Given the description of an element on the screen output the (x, y) to click on. 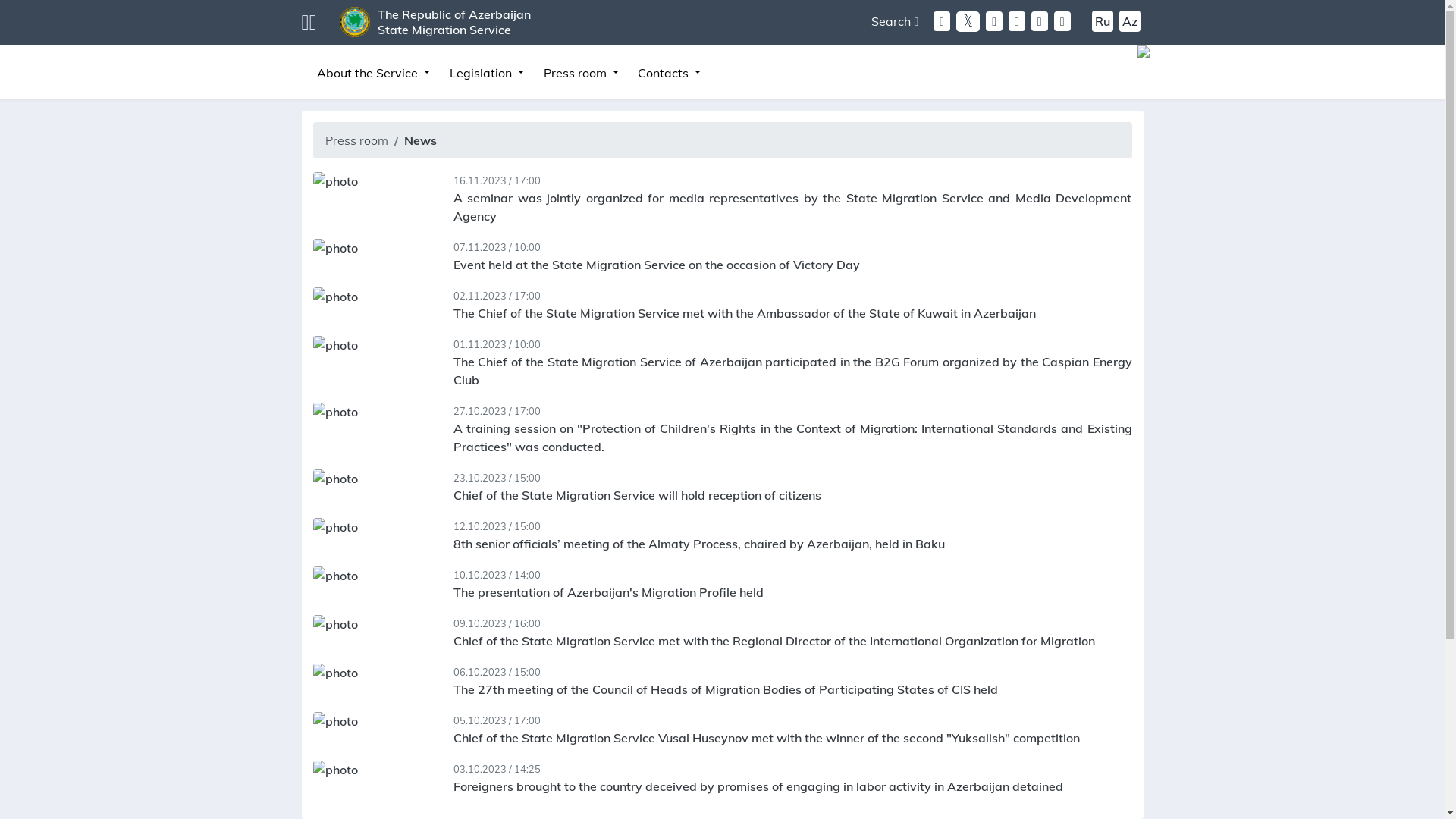
Press room Element type: text (580, 72)
Az Element type: text (1129, 20)
Contacts Element type: text (669, 72)
Legislation Element type: text (486, 72)
Ru Element type: text (1102, 20)
The presentation of Azerbaijan's Migration Profile held Element type: text (608, 591)
About the Service Element type: text (373, 72)
Search Element type: text (894, 20)
The Republic of Azerbaijan
State Migration Service Element type: text (453, 21)
Press room Element type: text (355, 140)
News Element type: text (419, 140)
